Given the description of an element on the screen output the (x, y) to click on. 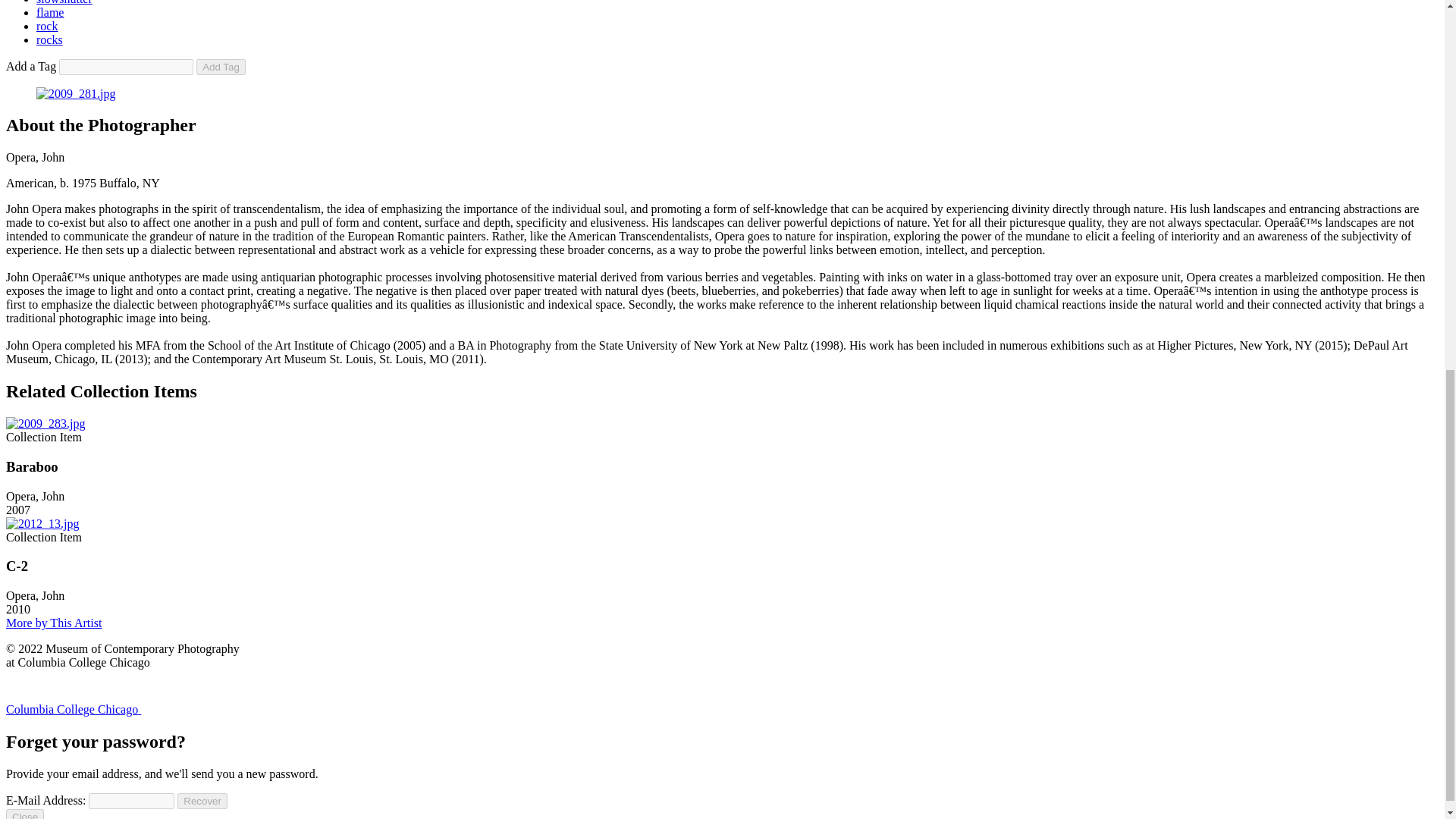
rock (47, 25)
More by This Artist (53, 622)
slowshutter (64, 2)
Recover (202, 801)
Recover (202, 801)
Add Tag (221, 66)
flame (50, 11)
Add Tag (221, 66)
rocks (49, 39)
Columbia College Chicago (128, 708)
